Given the description of an element on the screen output the (x, y) to click on. 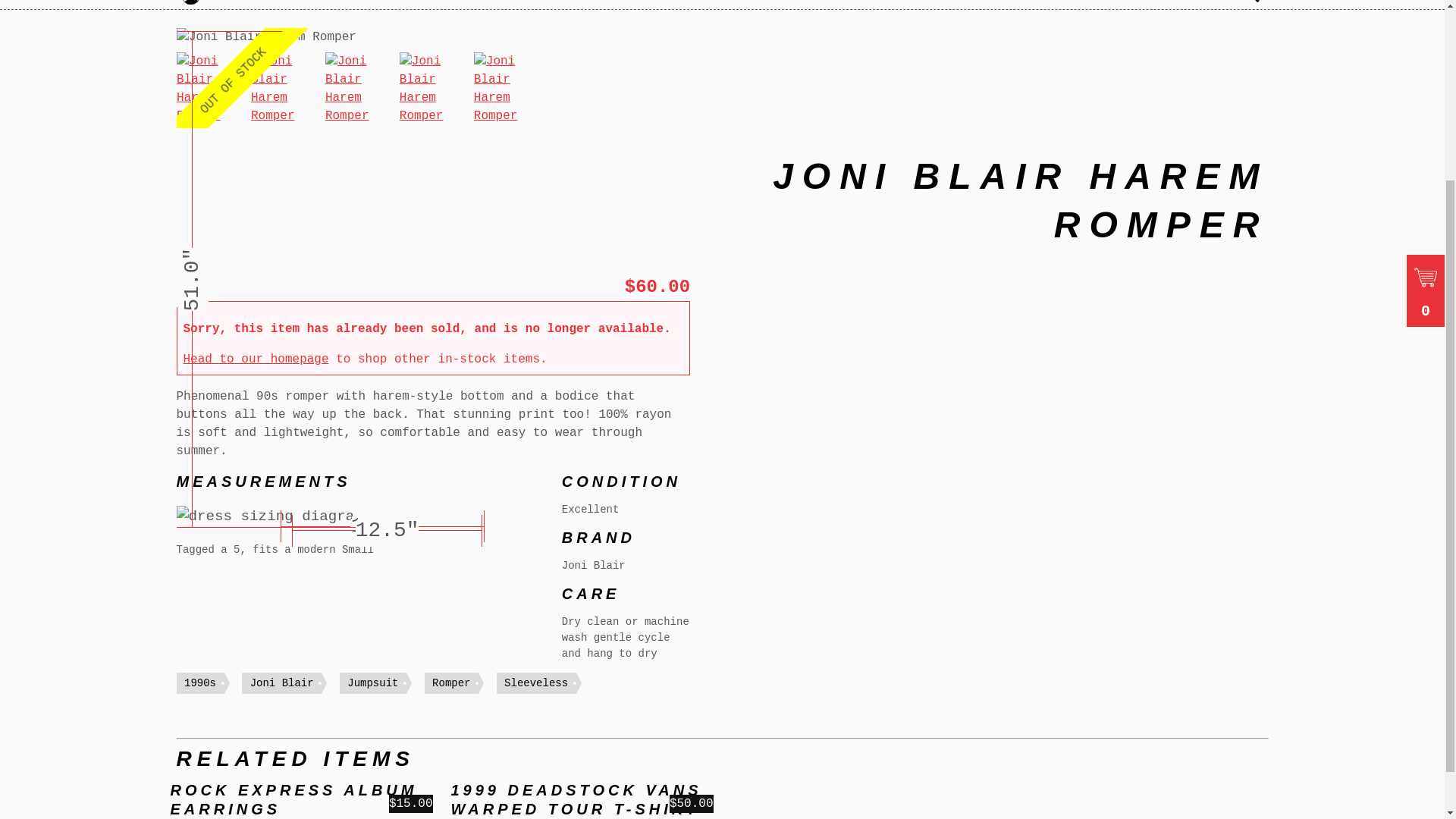
Pit to pit (382, 526)
Waist (386, 531)
Women (519, 2)
T-Shirts (417, 2)
Top of neck to bottom hem (424, 47)
